Given the description of an element on the screen output the (x, y) to click on. 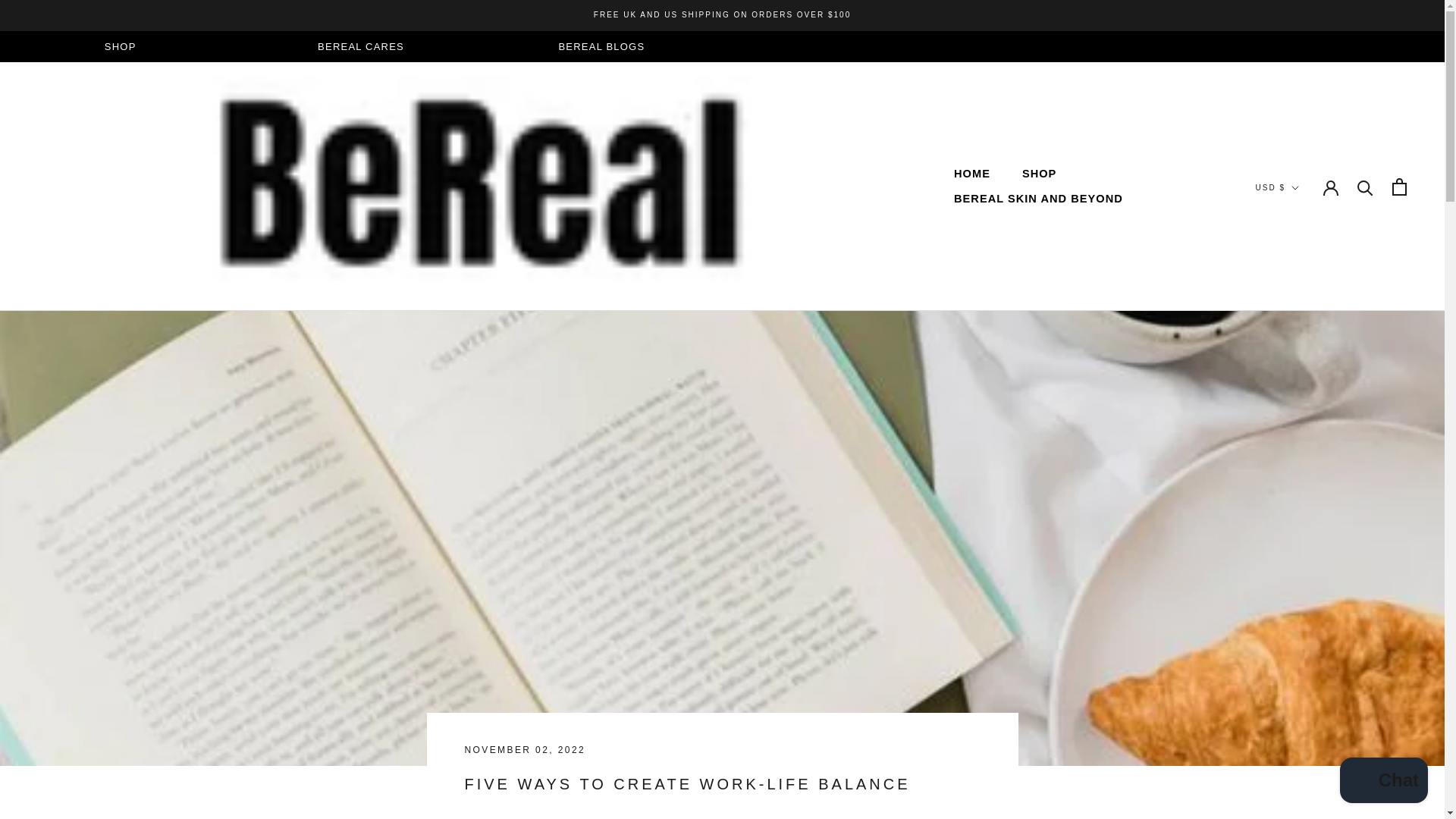
BEREAL CARES (360, 46)
SHOP (1039, 173)
BEREAL BLOGS (601, 46)
Shopify online store chat (971, 173)
SHOP (1383, 781)
